Given the description of an element on the screen output the (x, y) to click on. 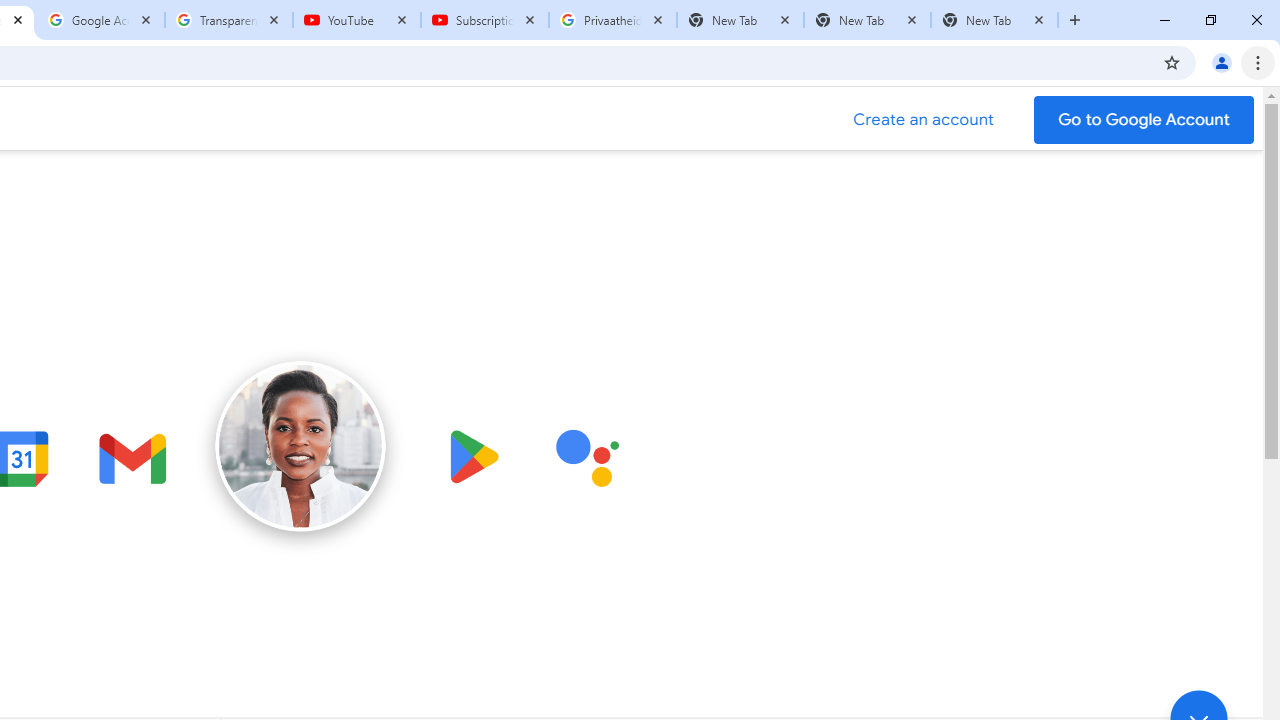
New Tab (866, 20)
